Given the description of an element on the screen output the (x, y) to click on. 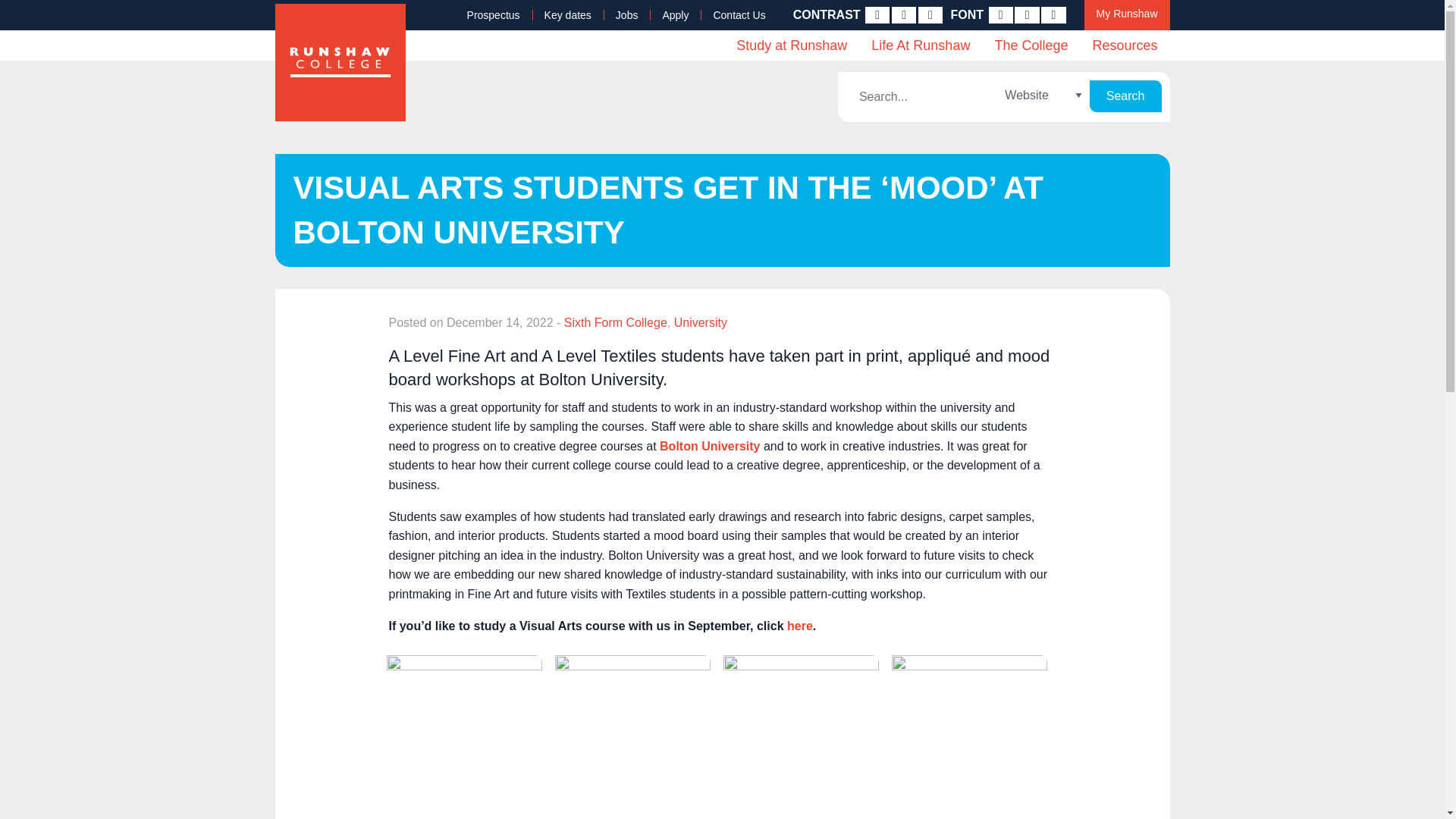
My Runshaw (1127, 15)
Set smaller font size (1000, 14)
Jobs (627, 15)
Contact Us (738, 15)
Study at Runshaw (791, 45)
The College (1030, 45)
Set default font size (1026, 14)
Set high contrast mode (930, 14)
Key dates (568, 15)
Search for: (921, 96)
Set larger font size (1053, 14)
My Runshaw (1127, 15)
Life At Runshaw (920, 45)
Set night contrast mode (903, 14)
Runshaw College (339, 62)
